Given the description of an element on the screen output the (x, y) to click on. 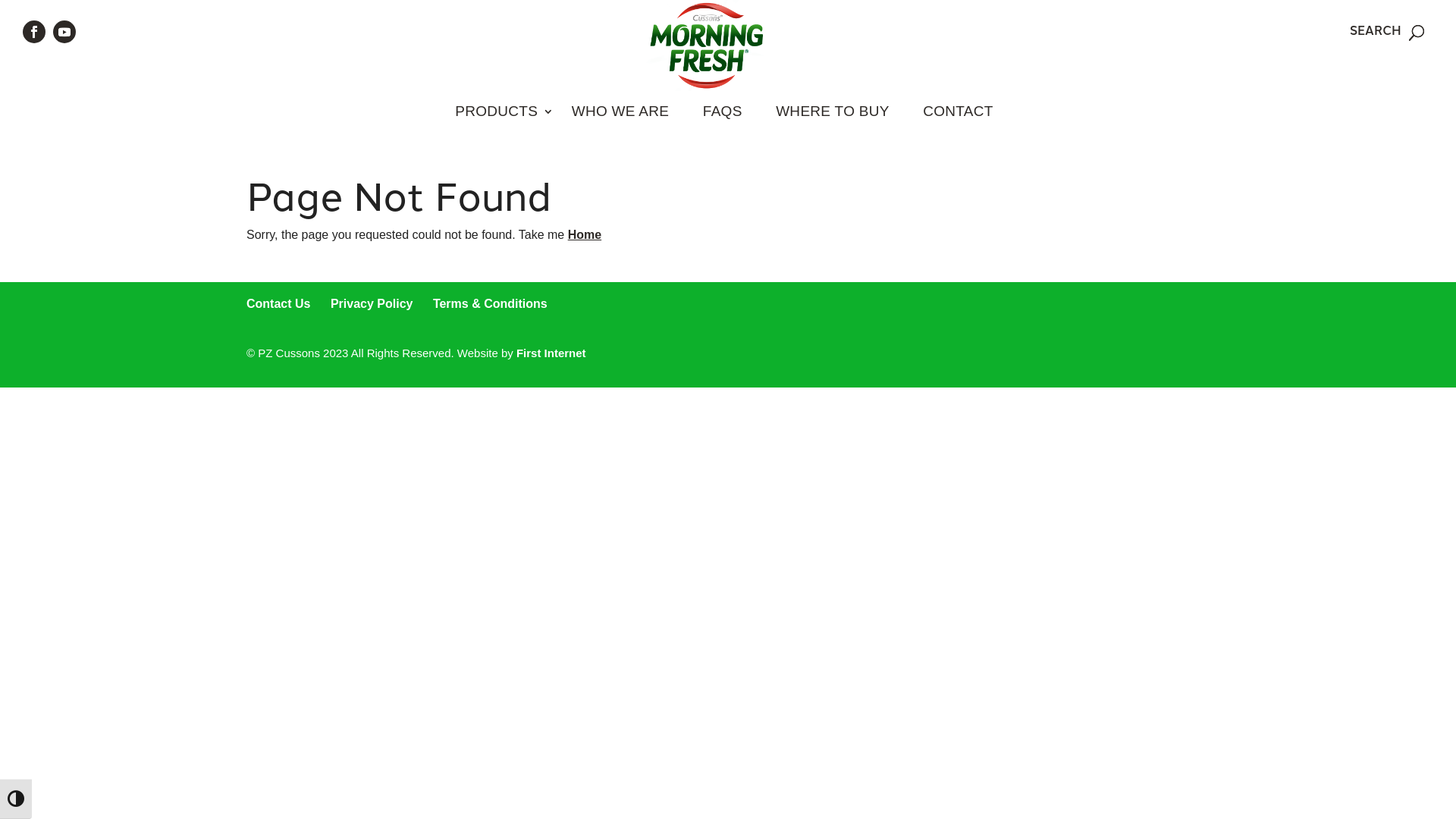
First Internet Element type: text (551, 352)
PRODUCTS Element type: text (496, 111)
Terms & Conditions Element type: text (490, 303)
CONTACT Element type: text (957, 111)
WHO WE ARE Element type: text (620, 111)
Skip to content Element type: text (0, 0)
FAQS Element type: text (722, 111)
Privacy Policy Element type: text (371, 303)
Home Element type: text (584, 234)
YouTube Element type: hover (64, 30)
Contact Us Element type: text (278, 303)
Morning Fresh Element type: hover (706, 43)
WHERE TO BUY Element type: text (832, 111)
